Given the description of an element on the screen output the (x, y) to click on. 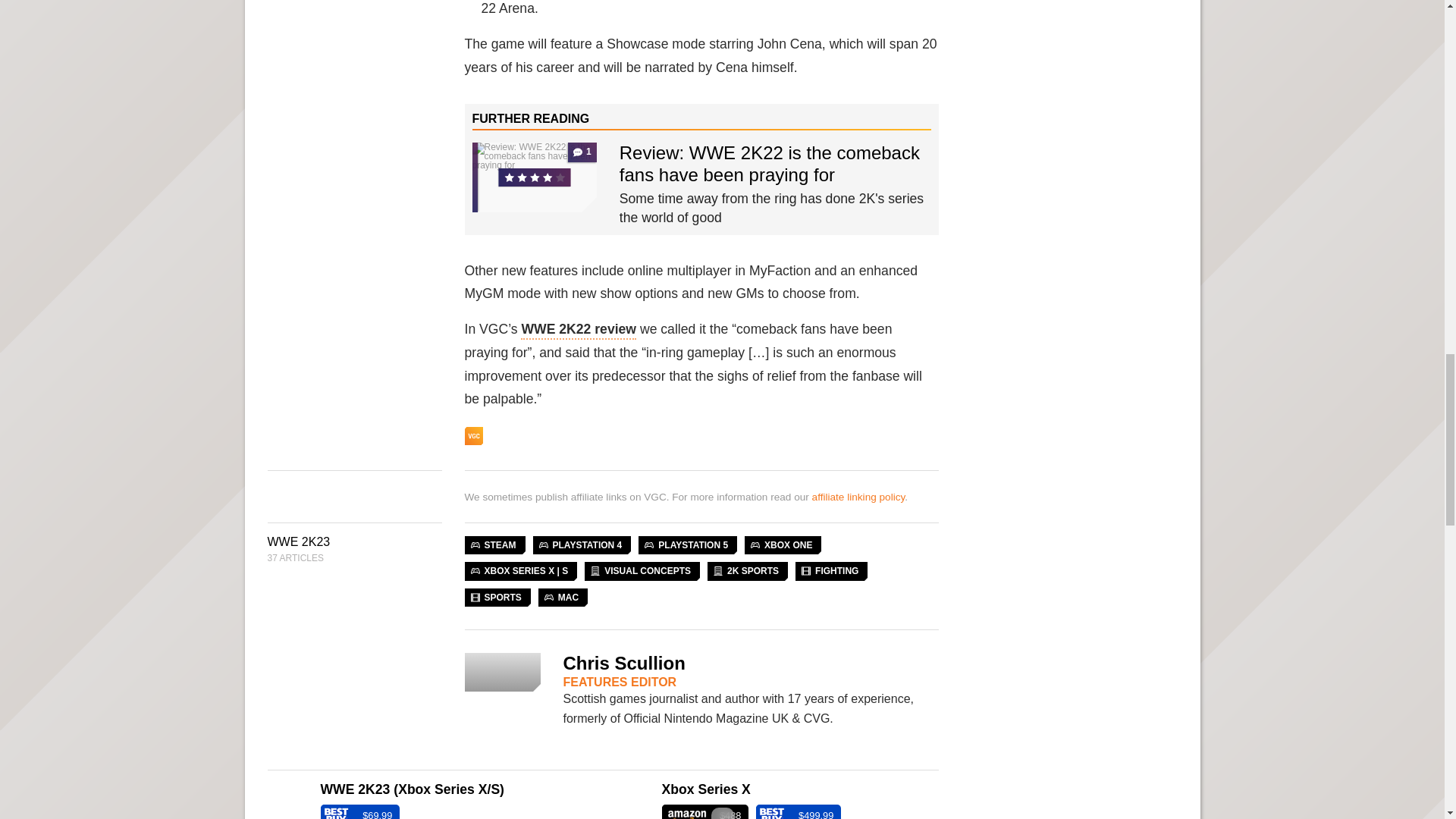
Score: 4 Stars (542, 179)
Review: WWE 2K22 is the comeback fans have been praying for (770, 163)
1 (533, 177)
WWE 2K22 review (578, 330)
Review: WWE 2K22 is the comeback fans have been praying for (533, 177)
